Given the description of an element on the screen output the (x, y) to click on. 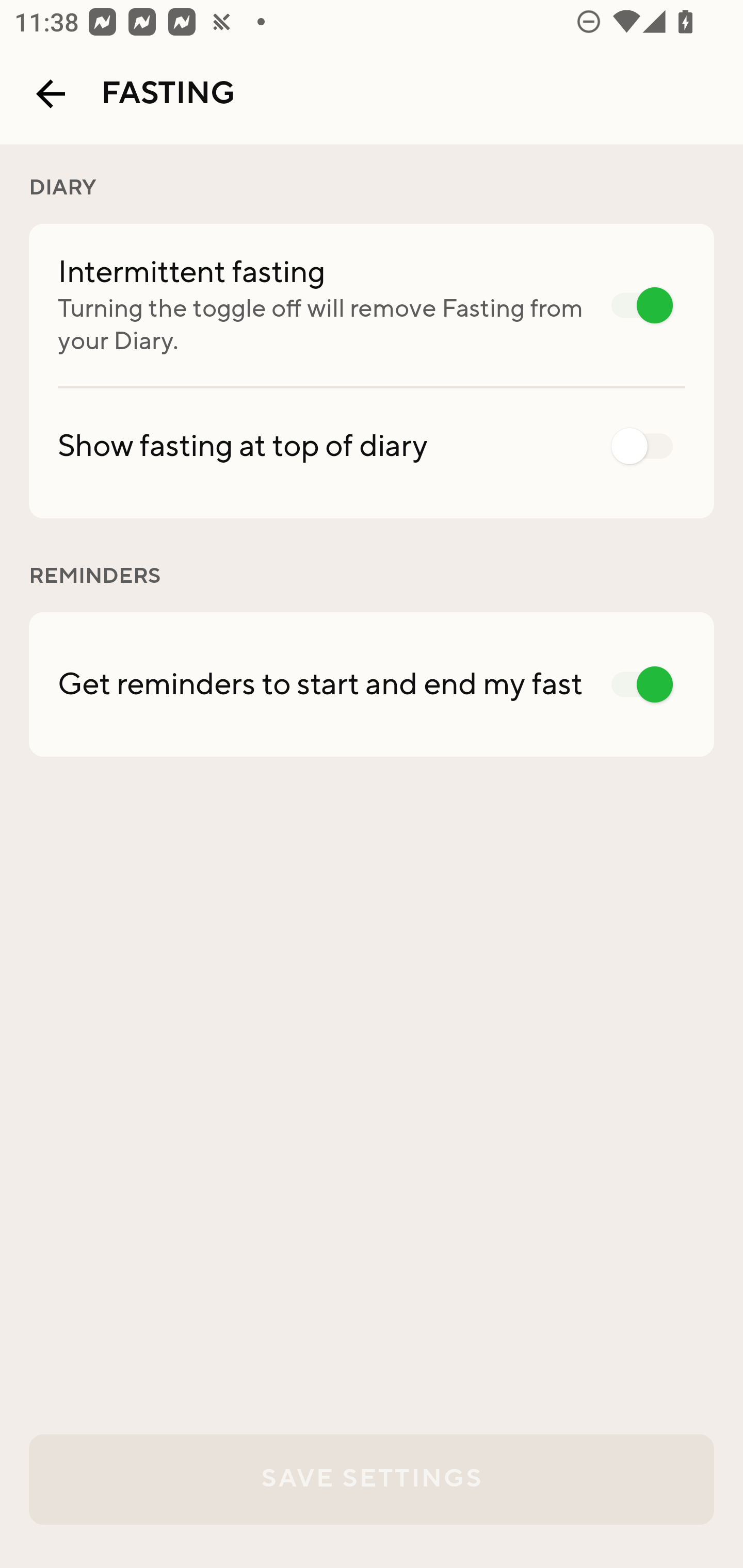
SAVE SETTINGS (371, 1479)
